Given the description of an element on the screen output the (x, y) to click on. 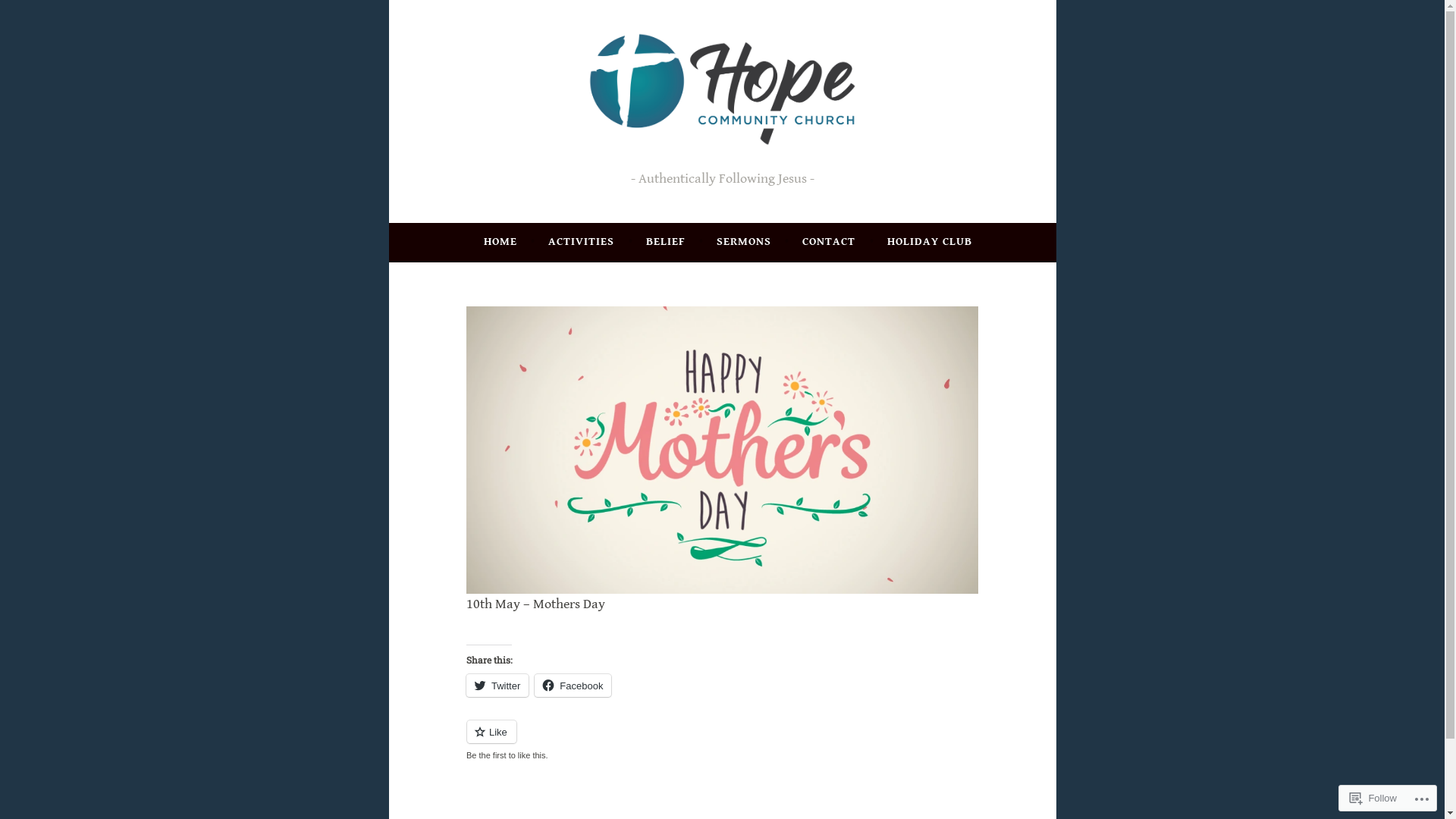
ACTIVITIES Element type: text (581, 241)
Facebook Element type: text (572, 685)
Twitter Element type: text (497, 685)
SERMONS Element type: text (743, 241)
HOLIDAY CLUB Element type: text (929, 241)
CONTACT Element type: text (828, 241)
HOME Element type: text (500, 241)
Follow Element type: text (1372, 797)
Like or Reblog Element type: hover (722, 740)
BELIEF Element type: text (665, 241)
